Given the description of an element on the screen output the (x, y) to click on. 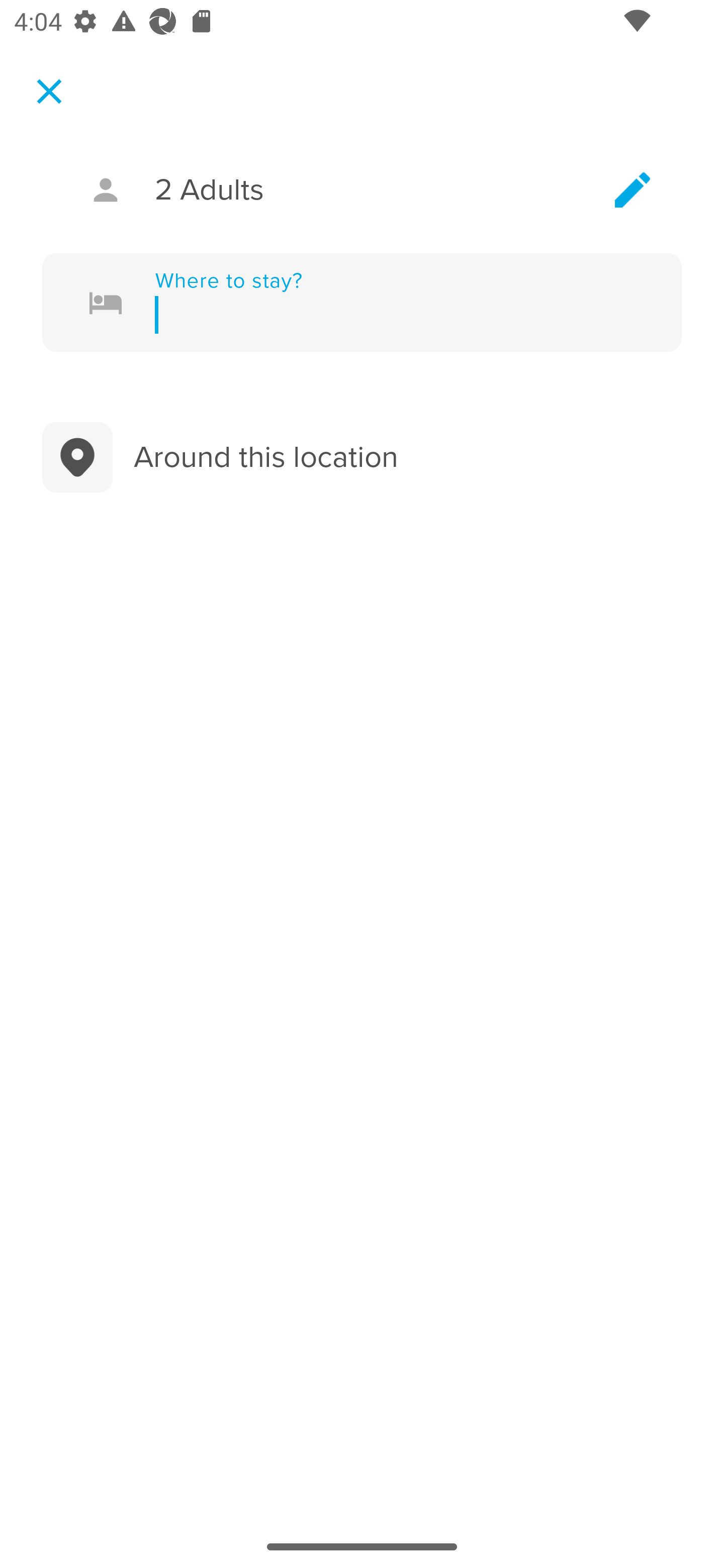
Navigate up (49, 91)
2 Adults (361, 190)
Where to stay? (389, 302)
Around this location (362, 456)
